Given the description of an element on the screen output the (x, y) to click on. 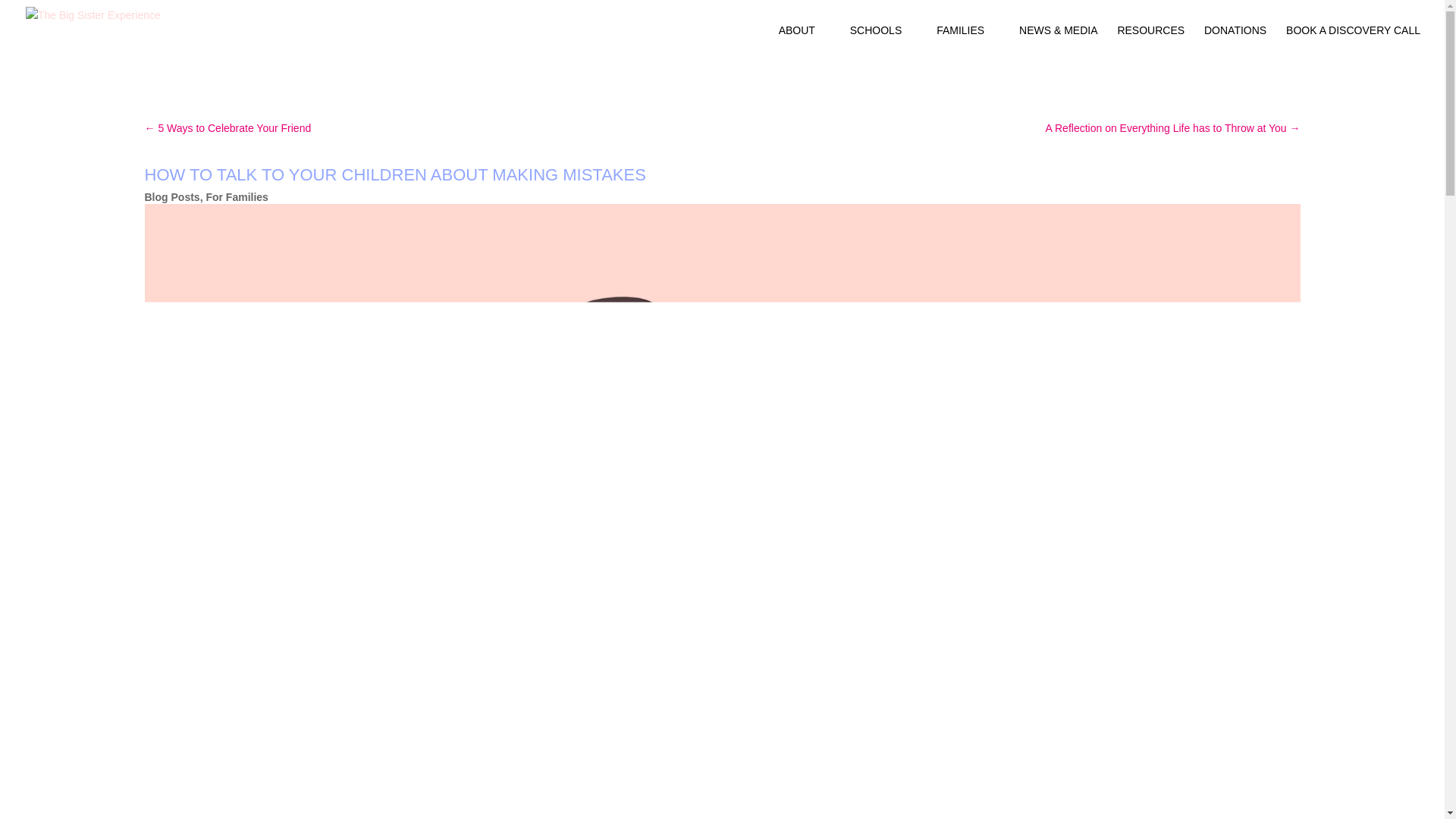
FAMILIES (967, 42)
SCHOOLS (883, 42)
RESOURCES (1150, 42)
ABOUT (803, 42)
DONATIONS (1235, 42)
For Families (236, 196)
Blog Posts (171, 196)
BOOK A DISCOVERY CALL (1353, 42)
